Given the description of an element on the screen output the (x, y) to click on. 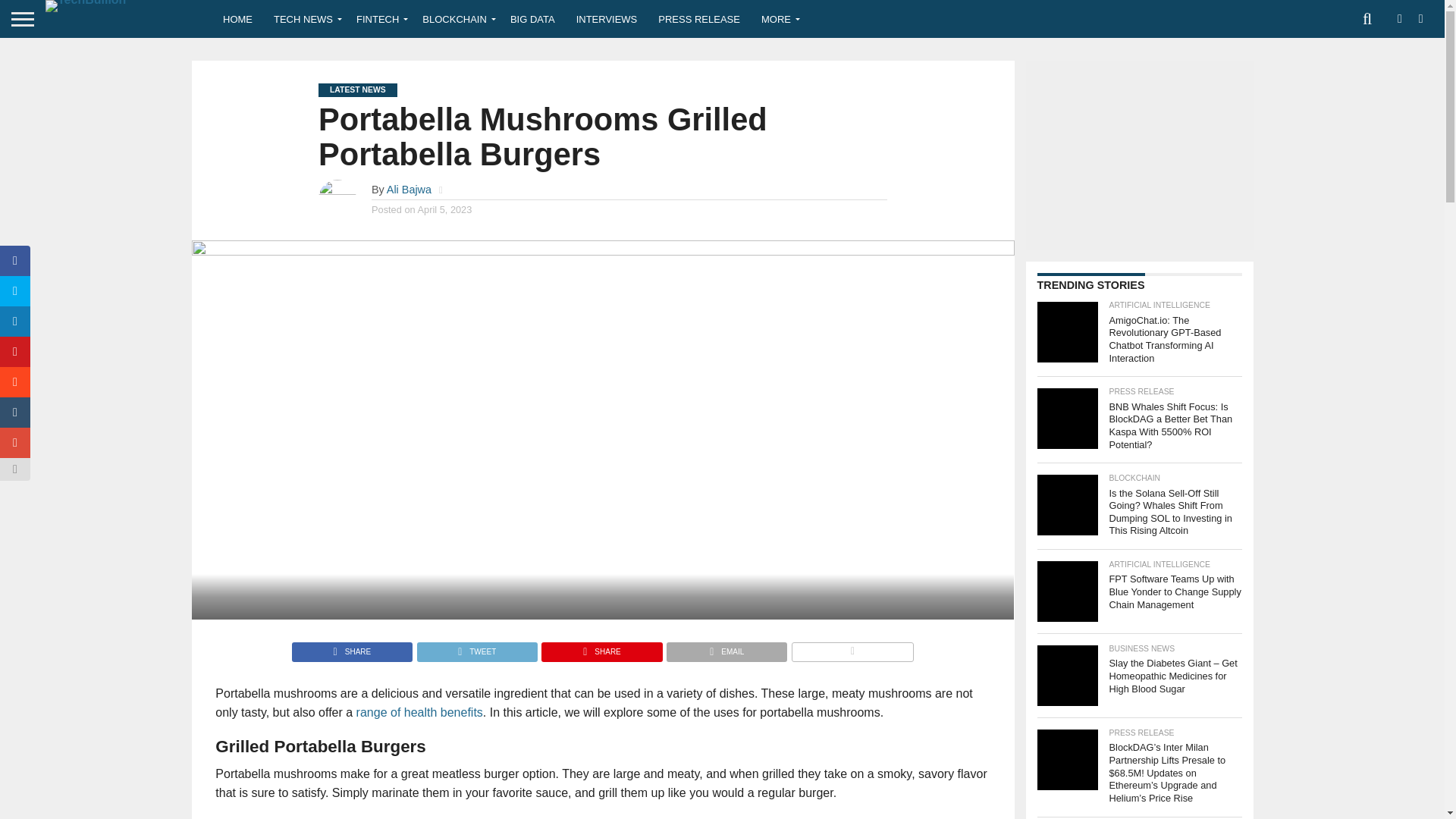
Share on Facebook (352, 647)
Posts by Ali Bajwa (408, 189)
Tweet This Post (476, 647)
Pin This Post (601, 647)
